Given the description of an element on the screen output the (x, y) to click on. 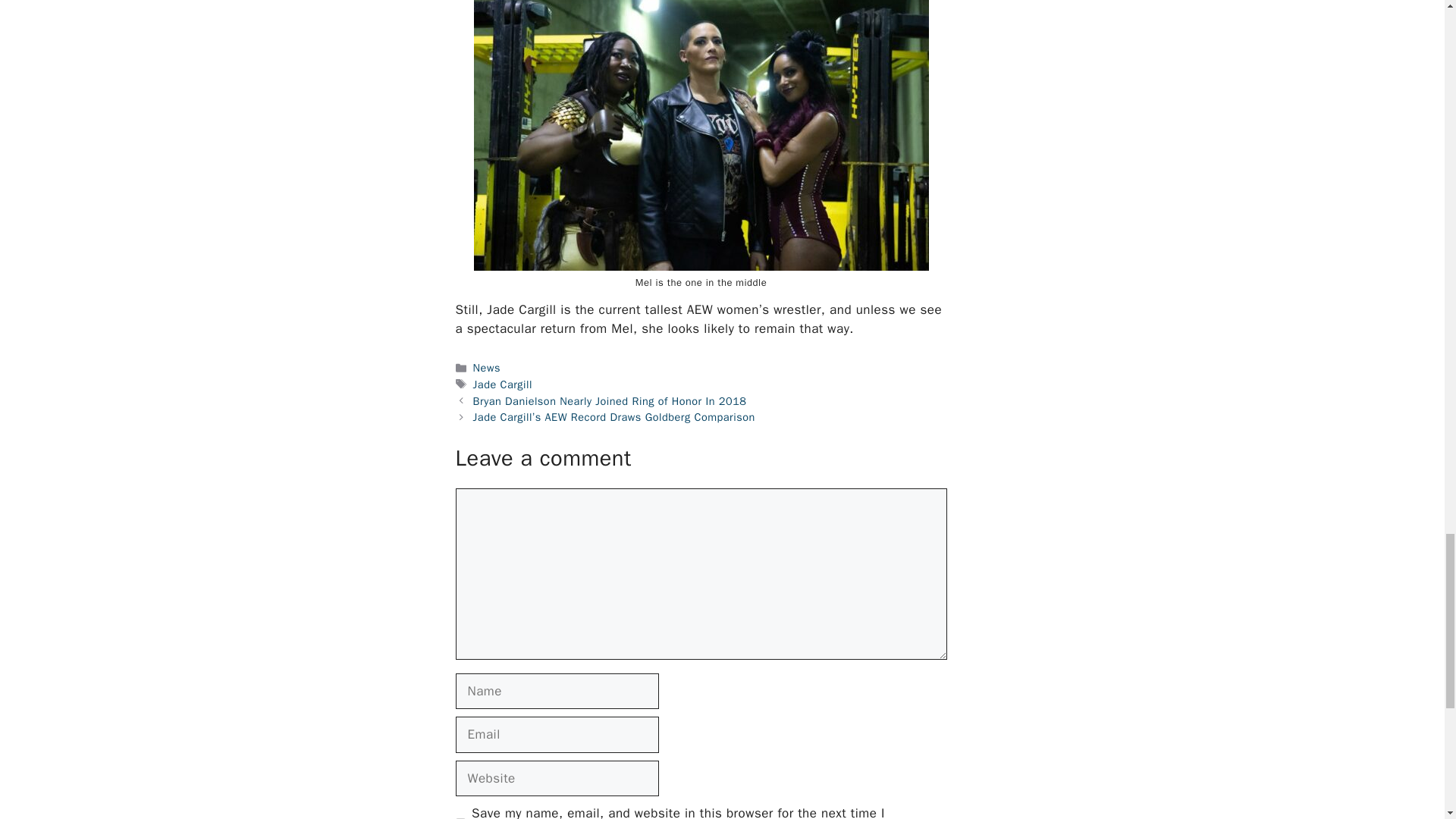
Bryan Danielson Nearly Joined Ring of Honor In 2018 (609, 400)
Jade Cargill (502, 384)
News (486, 367)
